Given the description of an element on the screen output the (x, y) to click on. 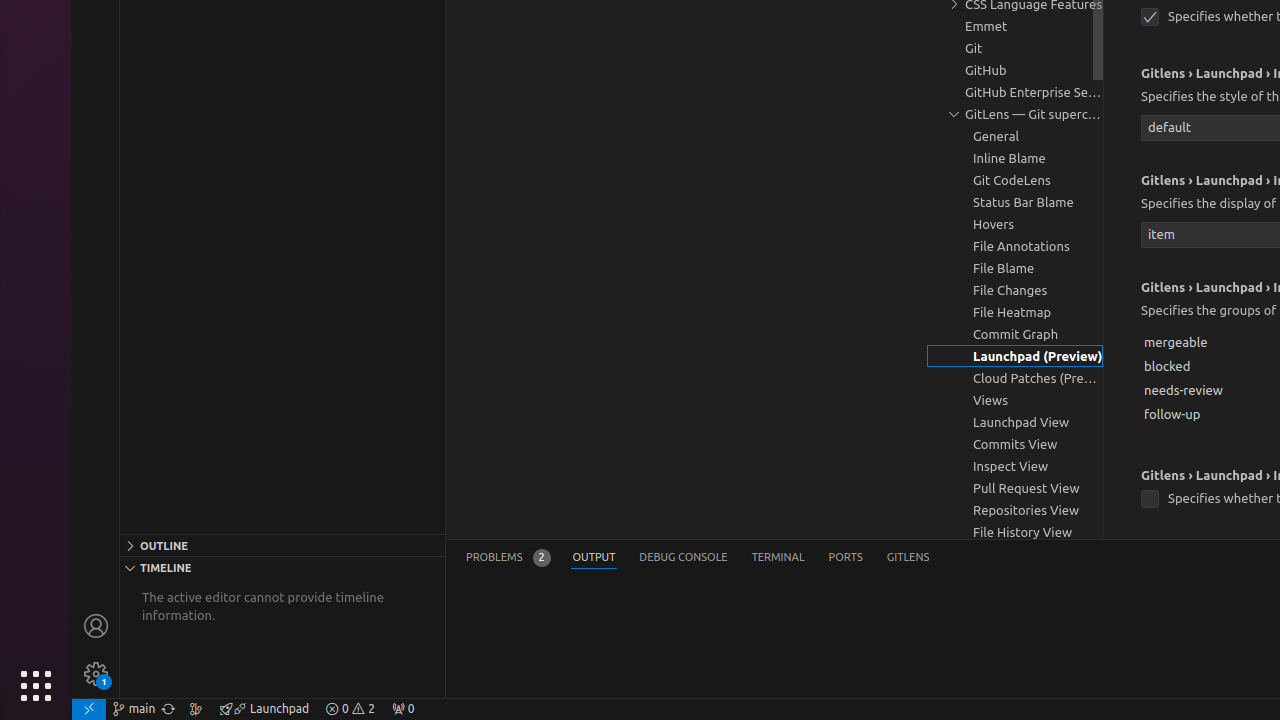
Launchpad (Preview), group Element type: tree-item (1015, 356)
